Given the description of an element on the screen output the (x, y) to click on. 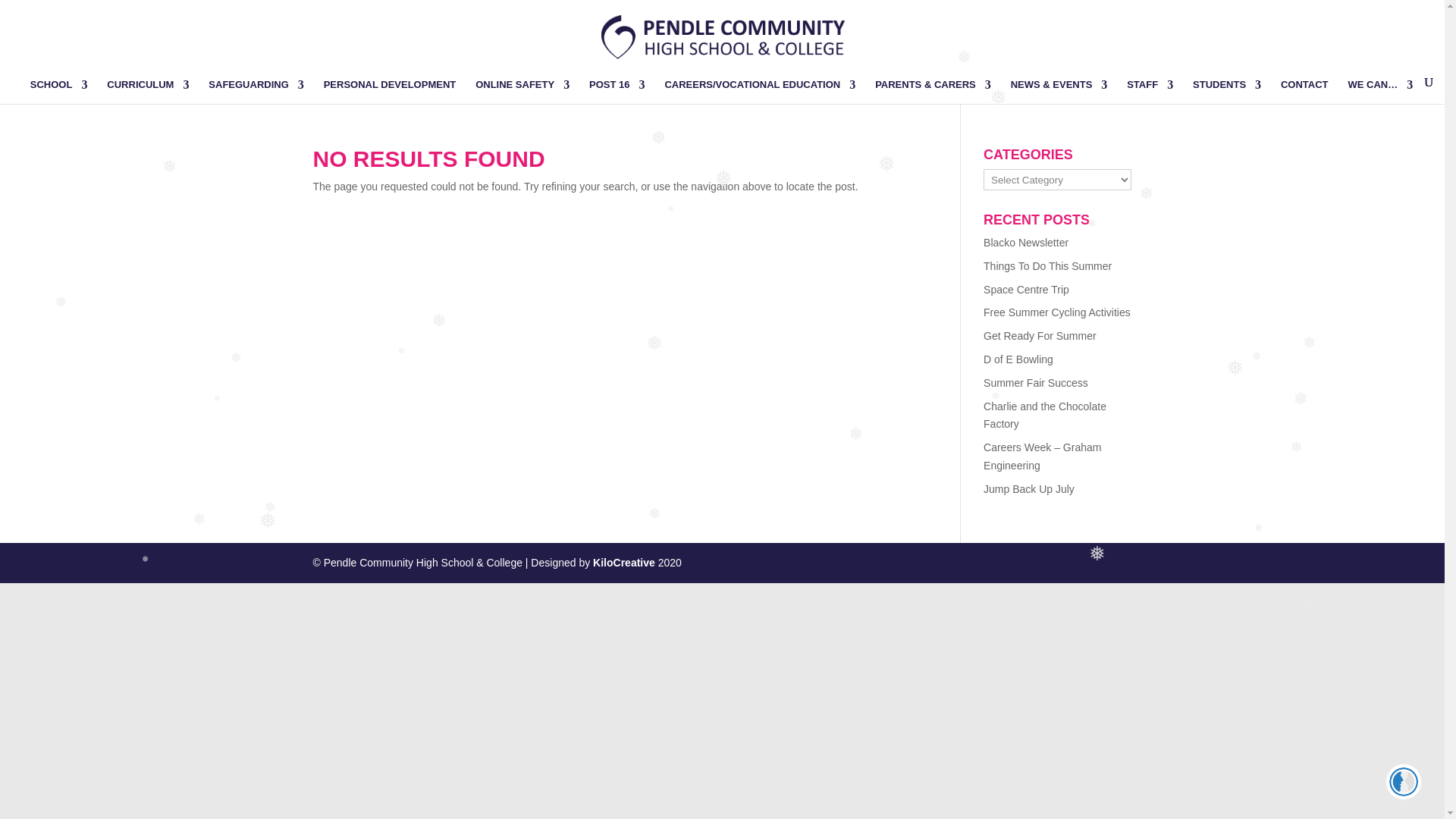
PERSONAL DEVELOPMENT (390, 91)
SAFEGUARDING (255, 91)
POST 16 (617, 91)
CURRICULUM (147, 91)
ONLINE SAFETY (522, 91)
SCHOOL (58, 91)
